Given the description of an element on the screen output the (x, y) to click on. 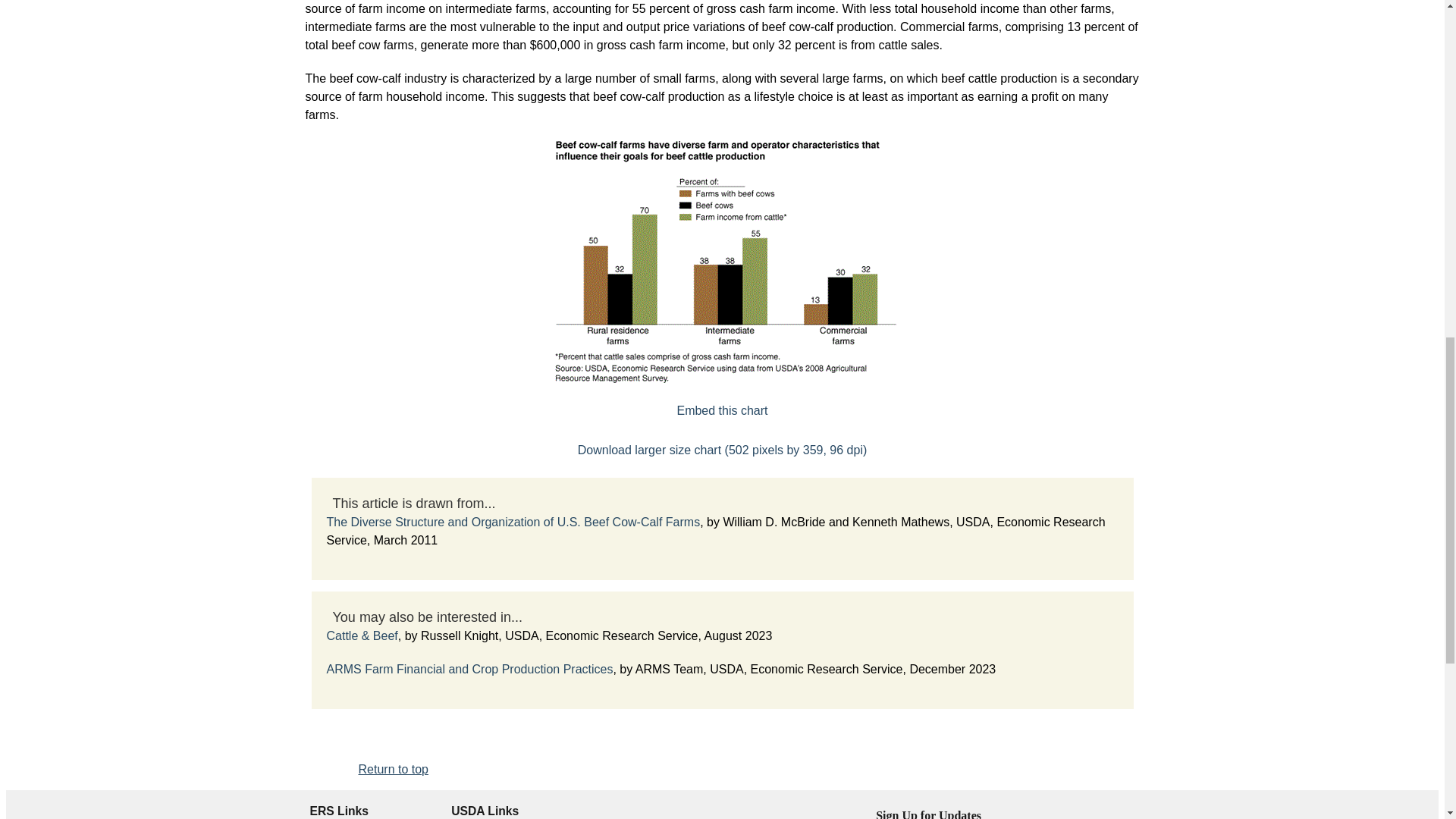
ARMS Farm Financial and Crop Production Practices (469, 668)
Return to top (393, 768)
Embed this chart (722, 410)
